Given the description of an element on the screen output the (x, y) to click on. 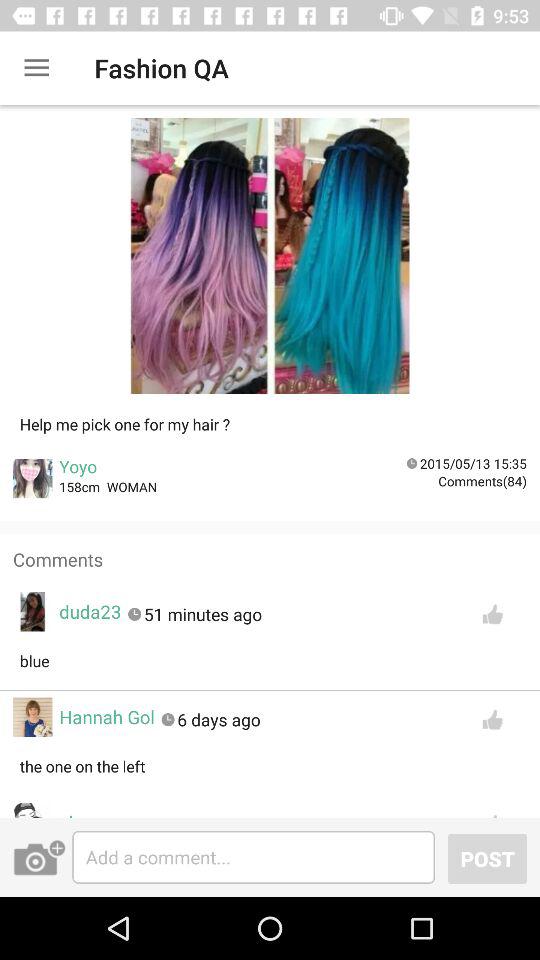
to take images (39, 857)
